Given the description of an element on the screen output the (x, y) to click on. 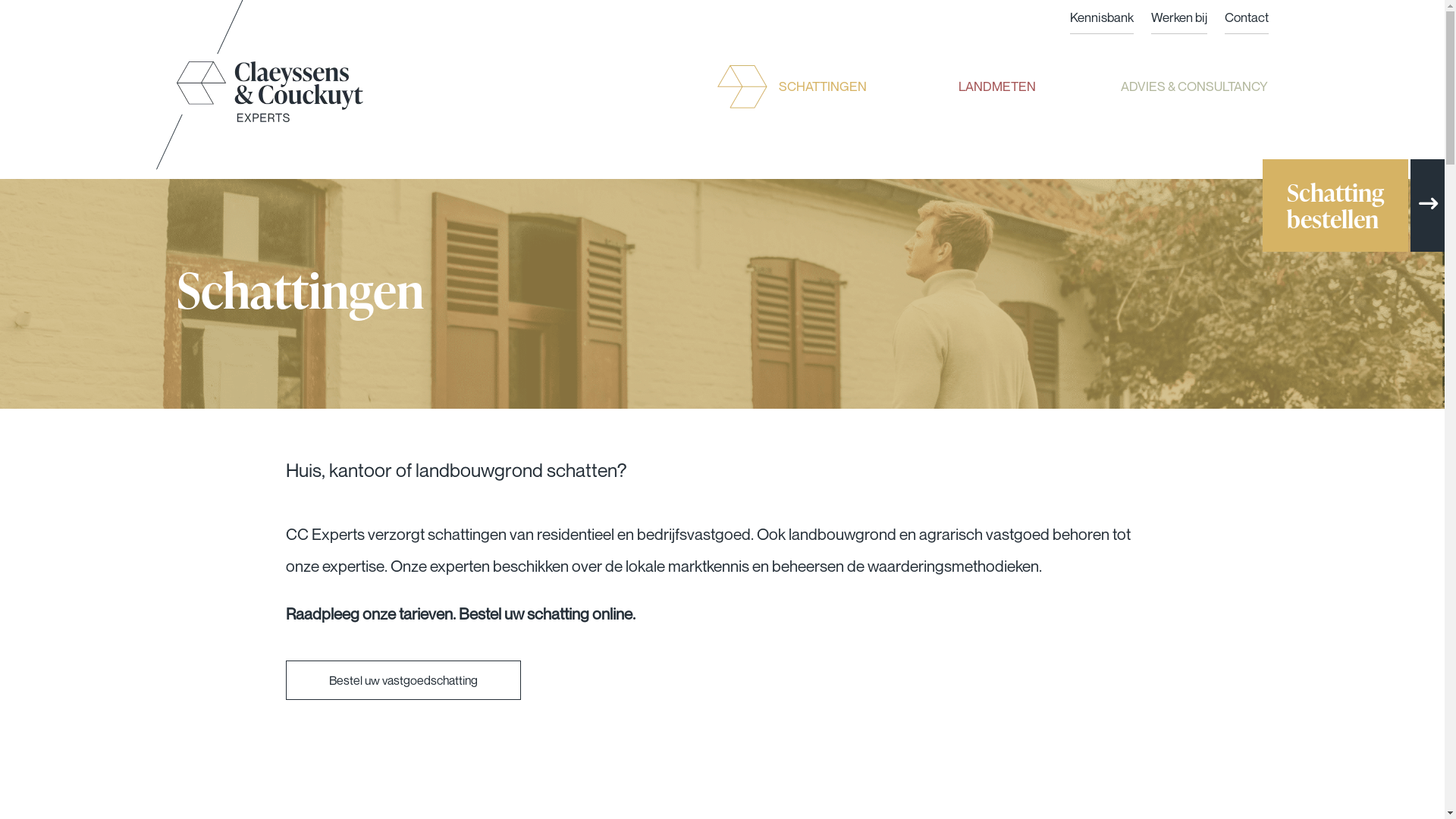
SCHATTINGEN Element type: text (791, 86)
ADVIES & CONSULTANCY Element type: text (1166, 86)
Kennisbank Element type: text (1100, 21)
Bestel uw vastgoedschatting Element type: text (402, 679)
Schattingen Element type: hover (1087, 86)
LANDMETEN Element type: text (966, 86)
Contact Element type: text (1245, 21)
Schattingen Element type: hover (922, 86)
Schatting
bestellen Element type: text (1353, 205)
CC Experts logo Element type: hover (268, 91)
Schattingen Element type: hover (742, 86)
Werken bij Element type: text (1179, 21)
